Given the description of an element on the screen output the (x, y) to click on. 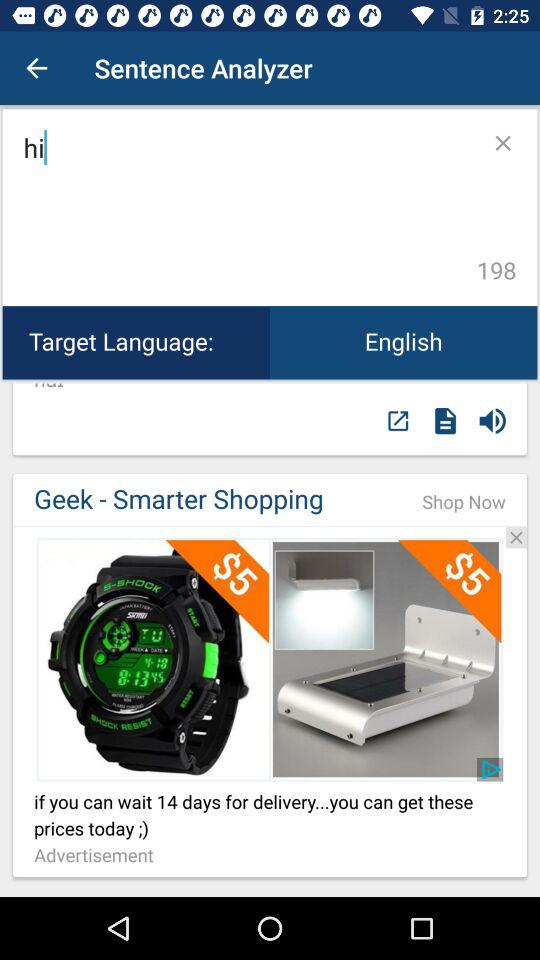
launch english item (403, 342)
